Given the description of an element on the screen output the (x, y) to click on. 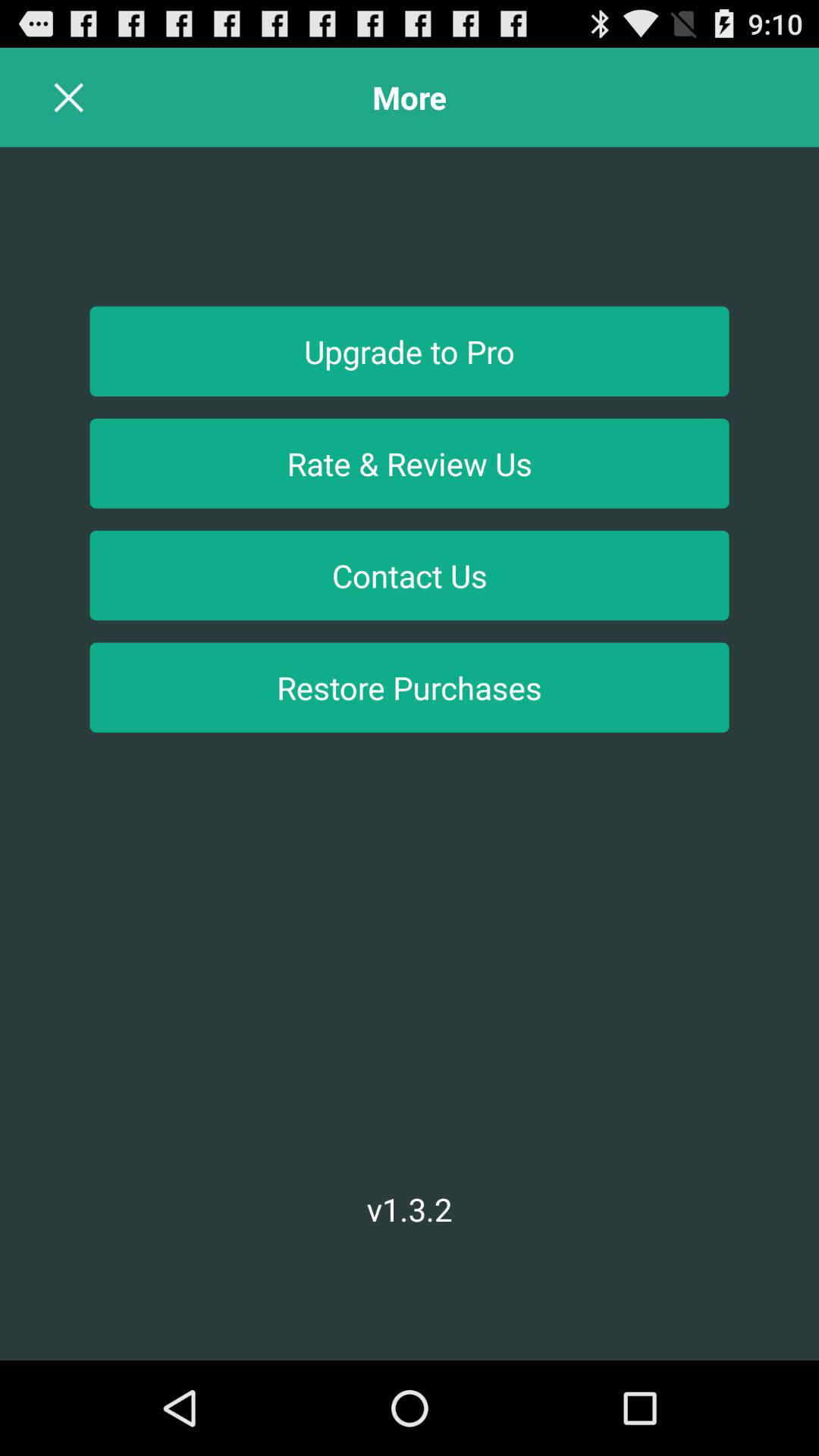
jump until the upgrade to pro icon (409, 351)
